Given the description of an element on the screen output the (x, y) to click on. 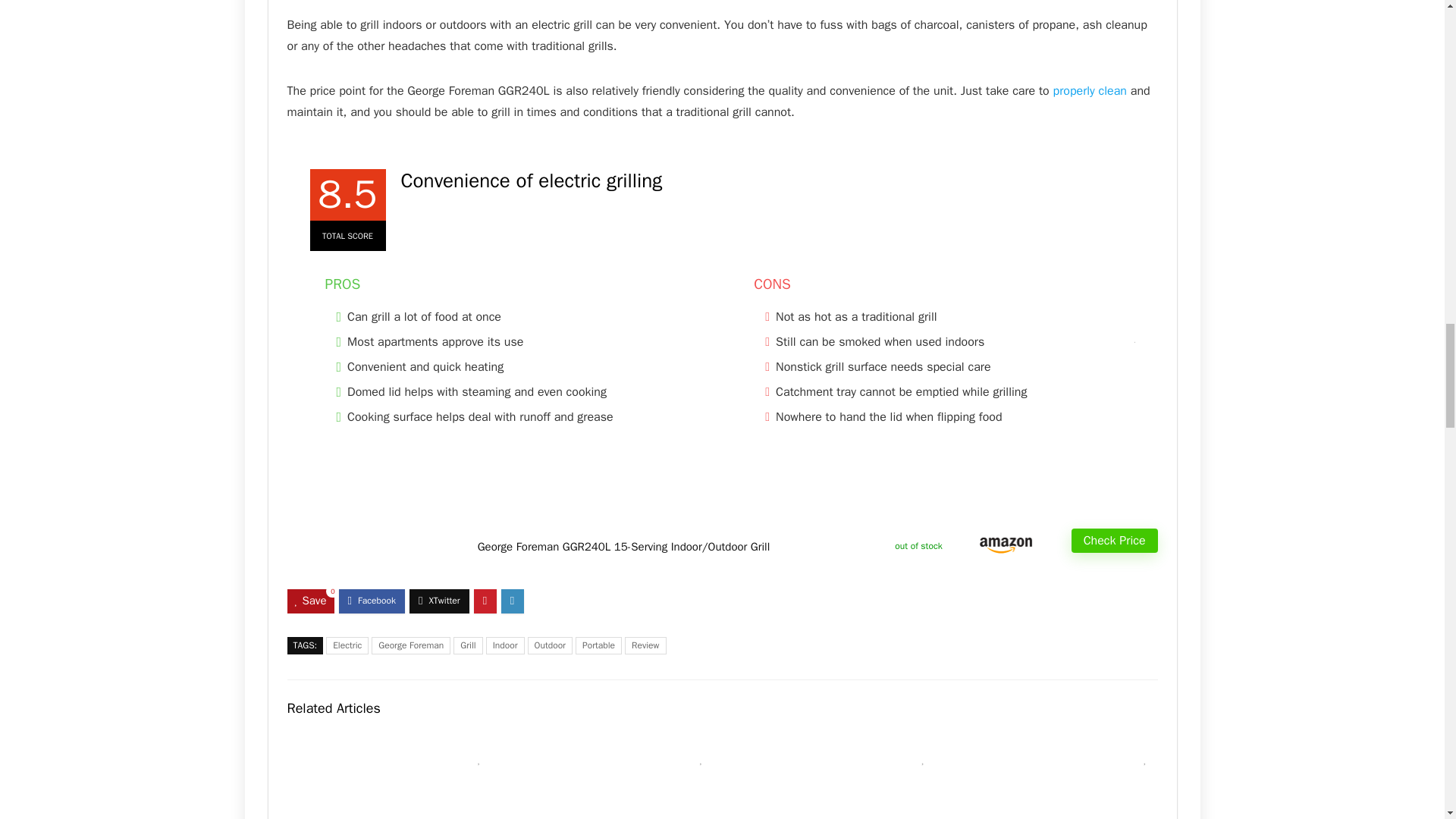
Last update was on: August 18, 2024 9:14 am (918, 545)
George Foreman (410, 645)
Grill (466, 645)
properly clean (1089, 90)
Electric (347, 645)
Check Price (1114, 540)
